Given the description of an element on the screen output the (x, y) to click on. 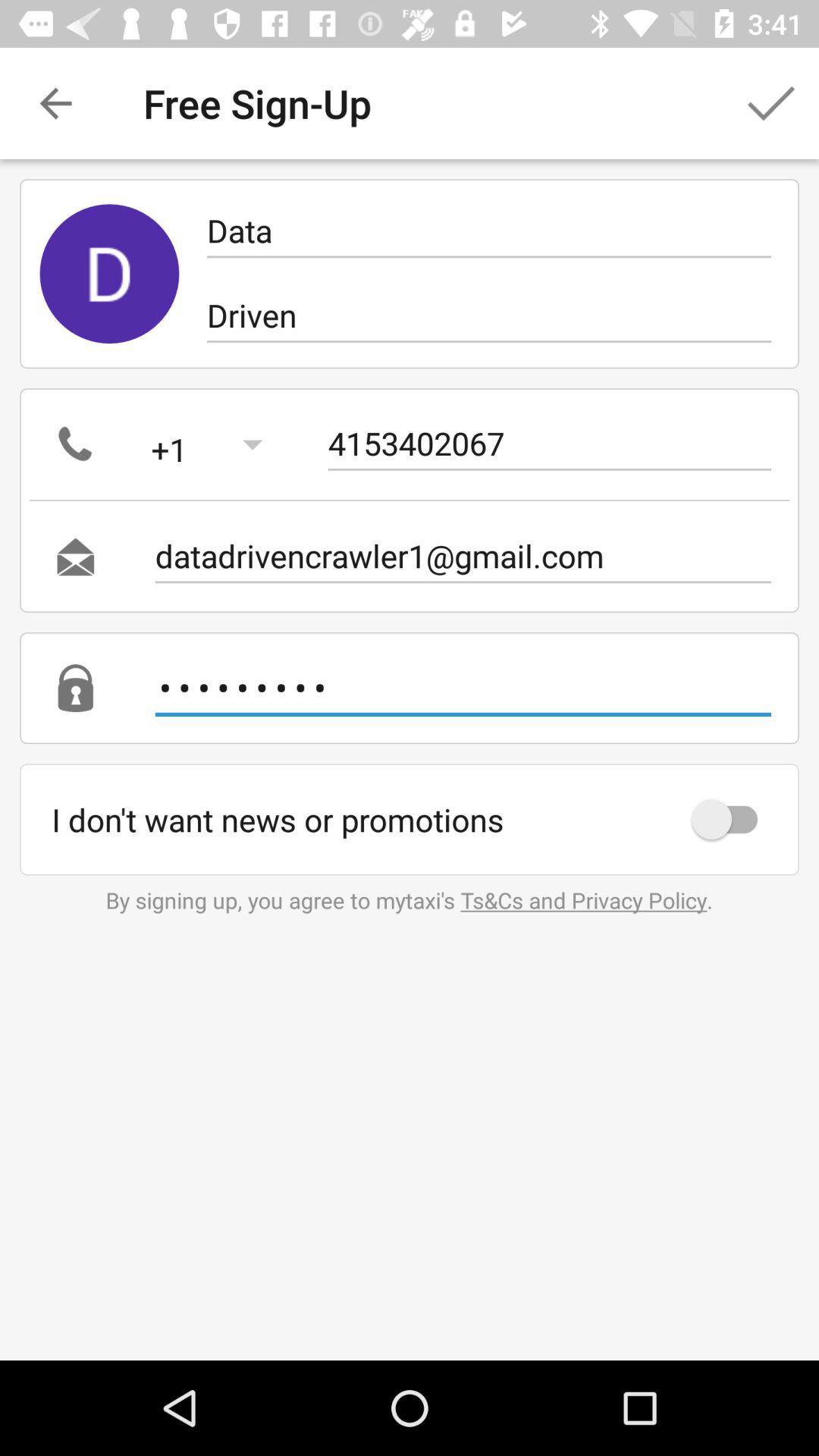
click on the icon at right side of i dont want news or promotion (731, 818)
